Given the description of an element on the screen output the (x, y) to click on. 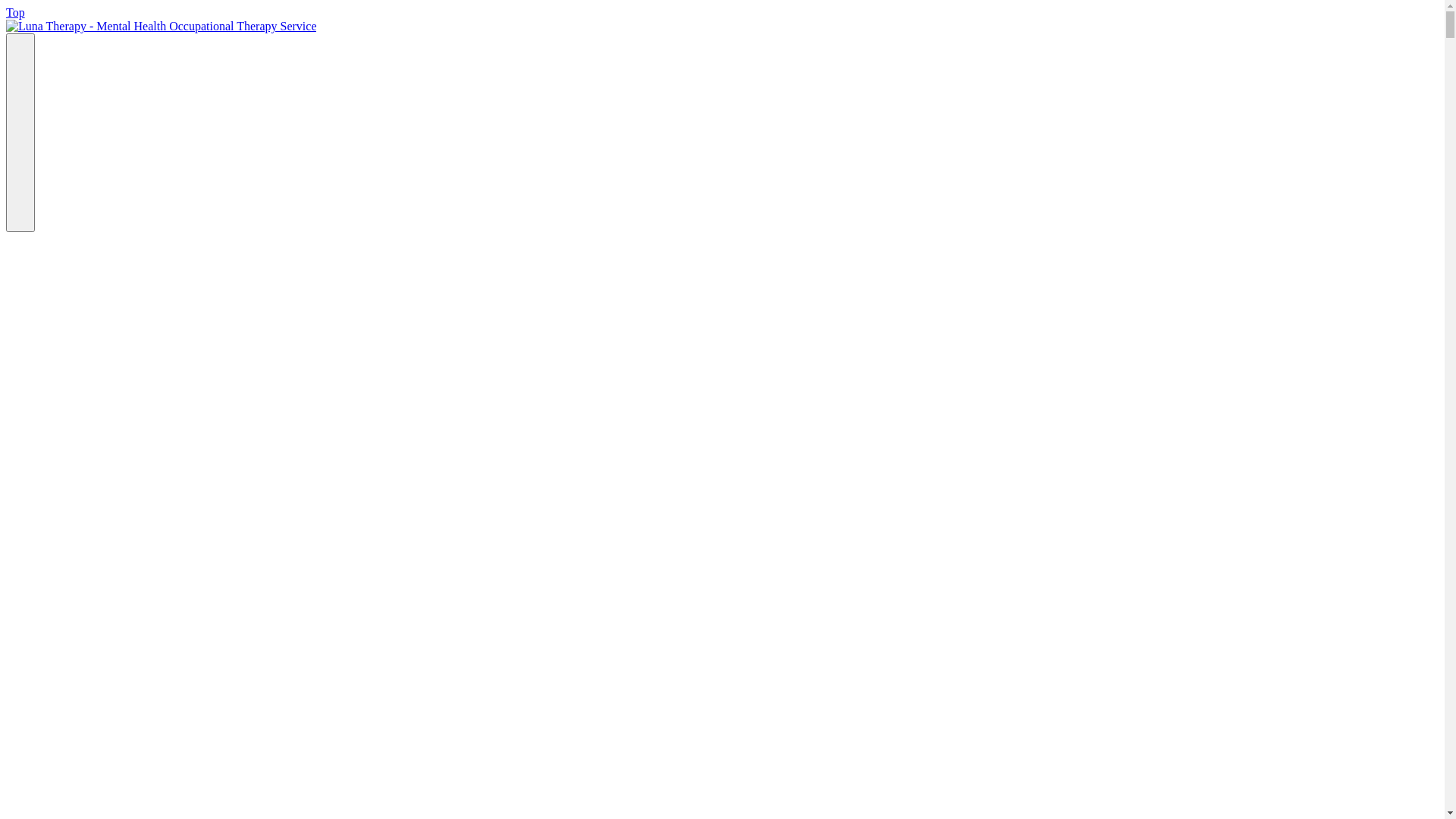
Top Element type: text (15, 12)
